Given the description of an element on the screen output the (x, y) to click on. 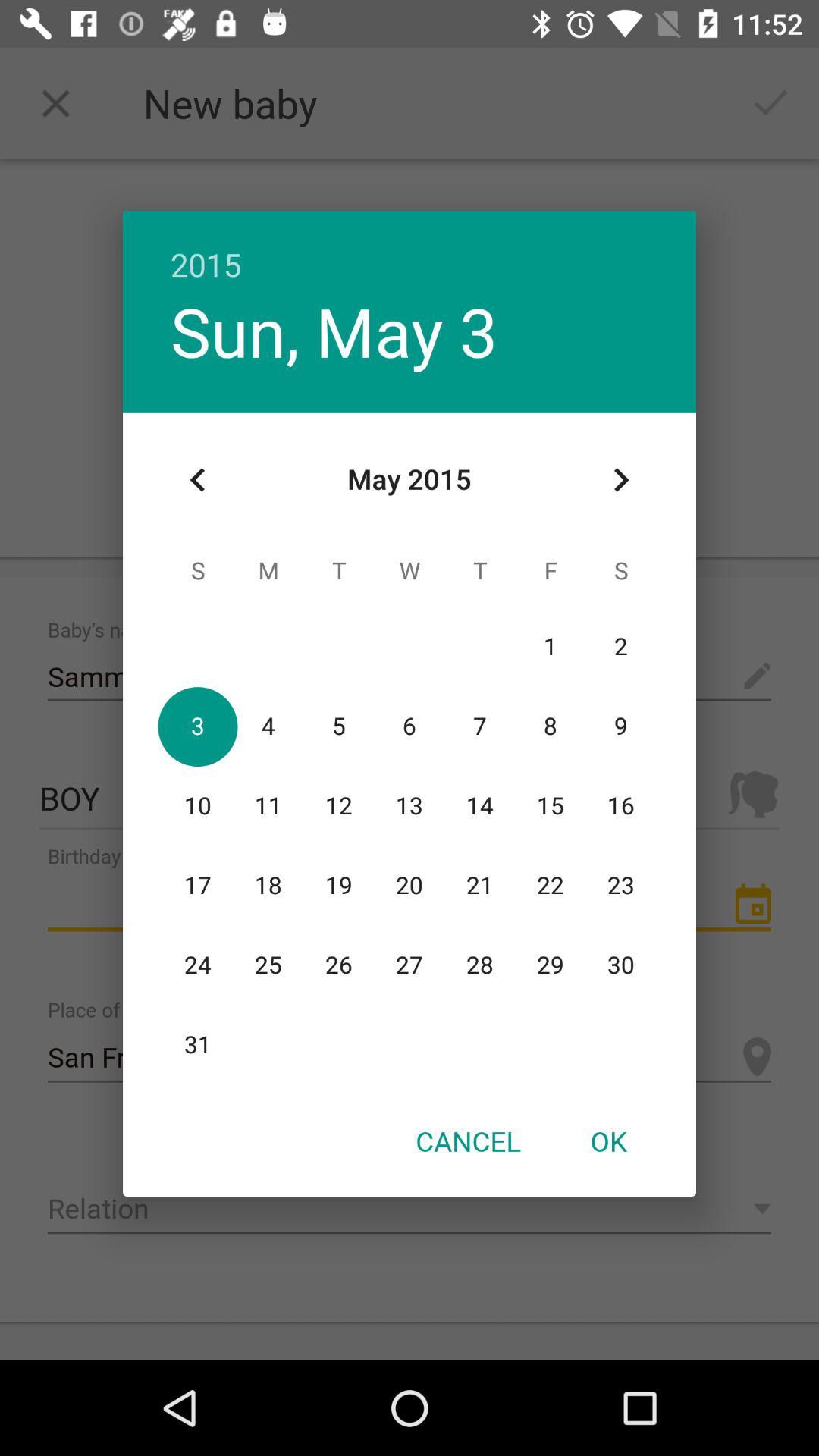
tap the icon above the sun, may 3 item (409, 248)
